Given the description of an element on the screen output the (x, y) to click on. 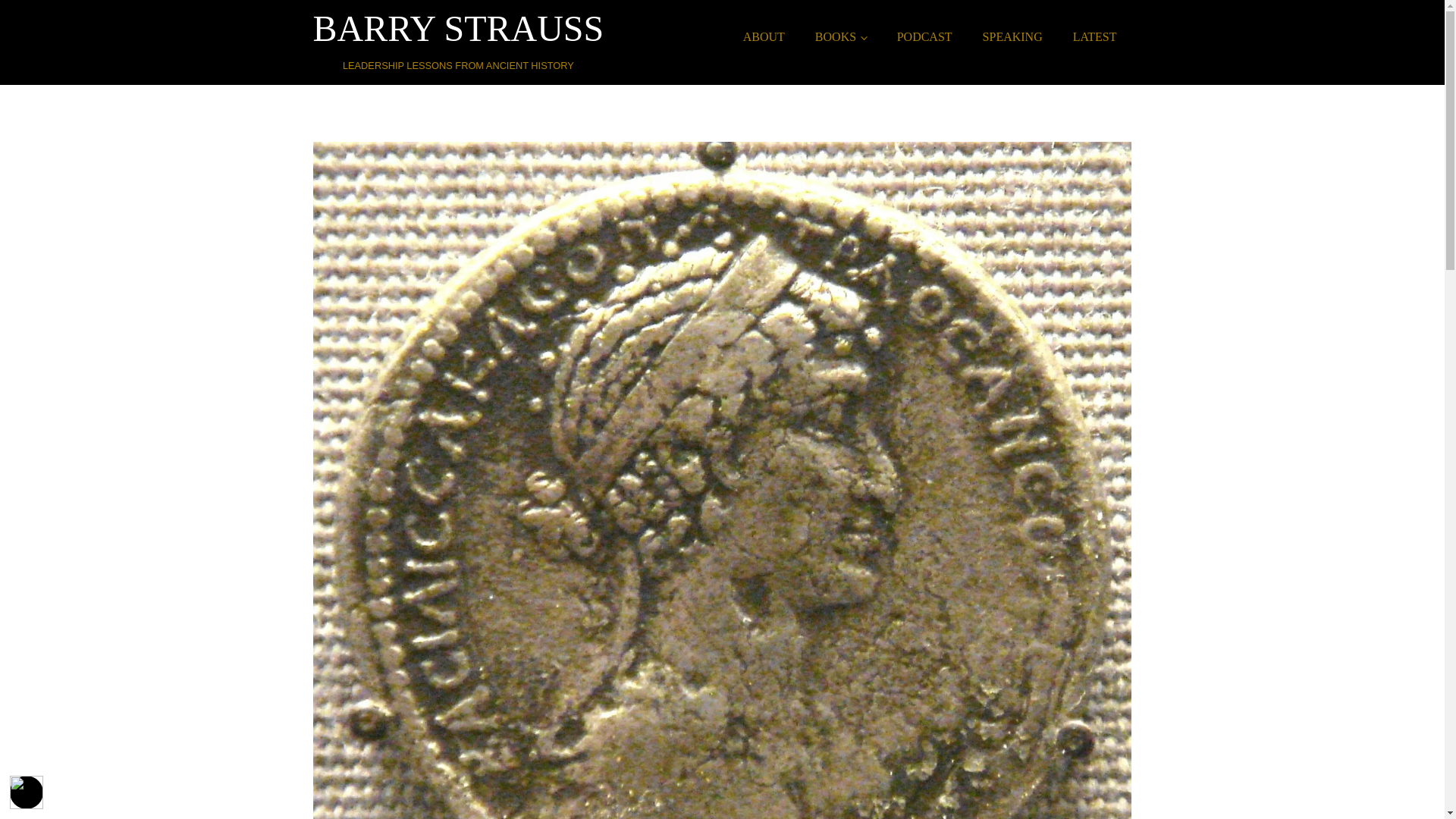
SPEAKING (1013, 37)
PODCAST (925, 37)
ABOUT (458, 36)
BOOKS (763, 37)
LATEST (840, 37)
Accessibility Menu (1095, 37)
